Given the description of an element on the screen output the (x, y) to click on. 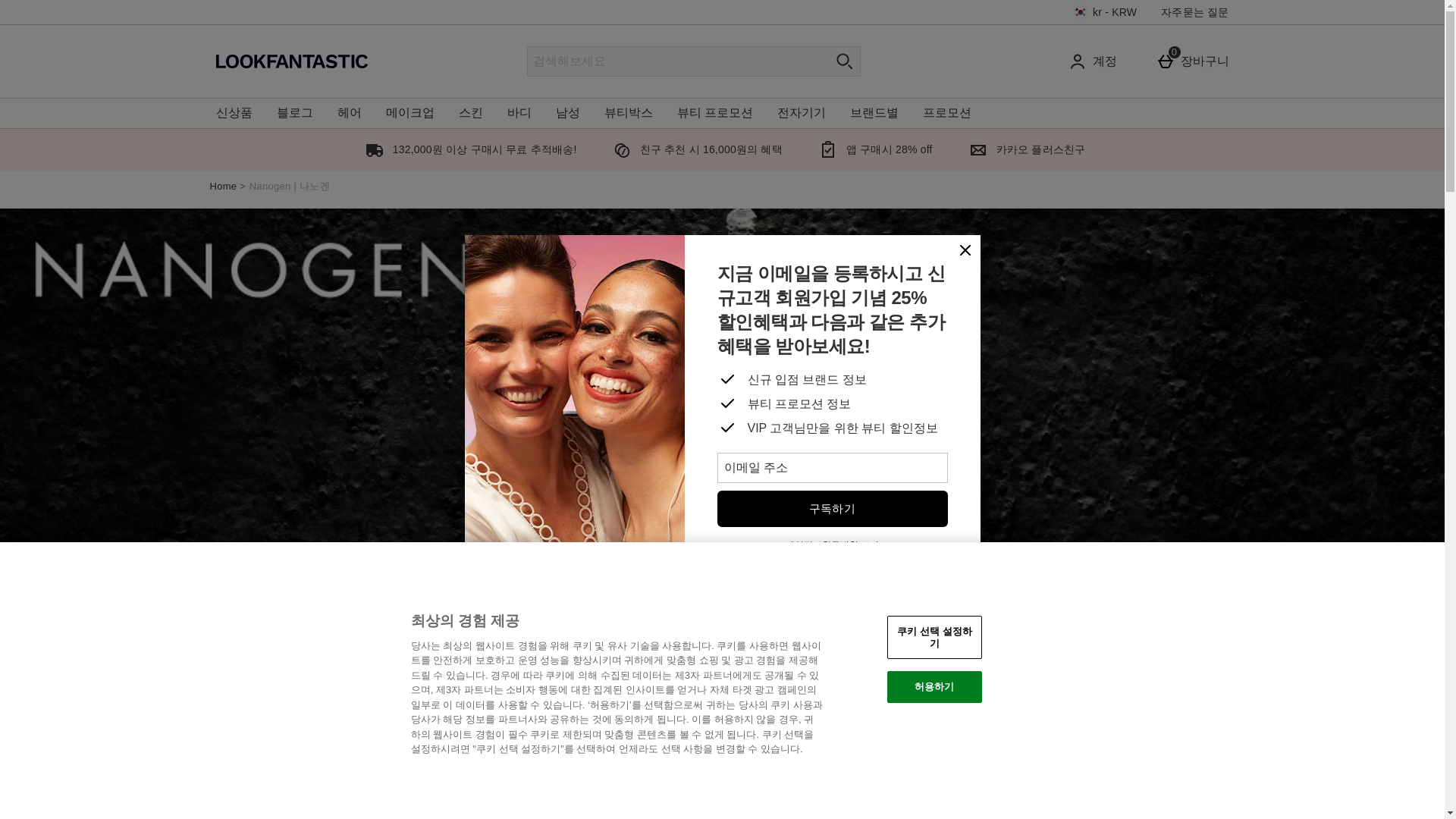
kr - KRW (1105, 12)
